Given the description of an element on the screen output the (x, y) to click on. 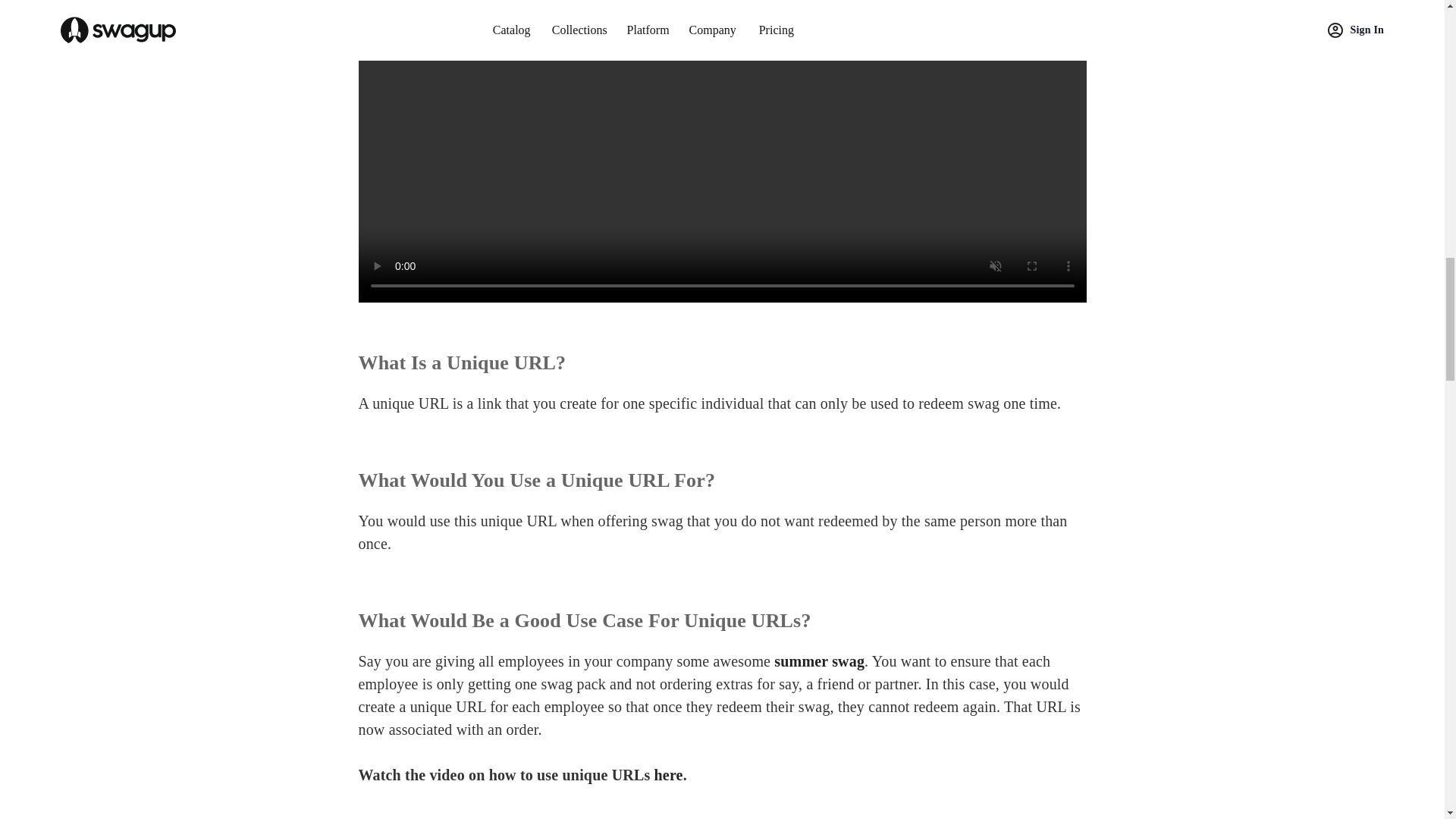
summer swag (819, 660)
here (667, 774)
SwagUp Dashboard Demo Redeem Page Demos :: Unique Urls (556, 814)
